Given the description of an element on the screen output the (x, y) to click on. 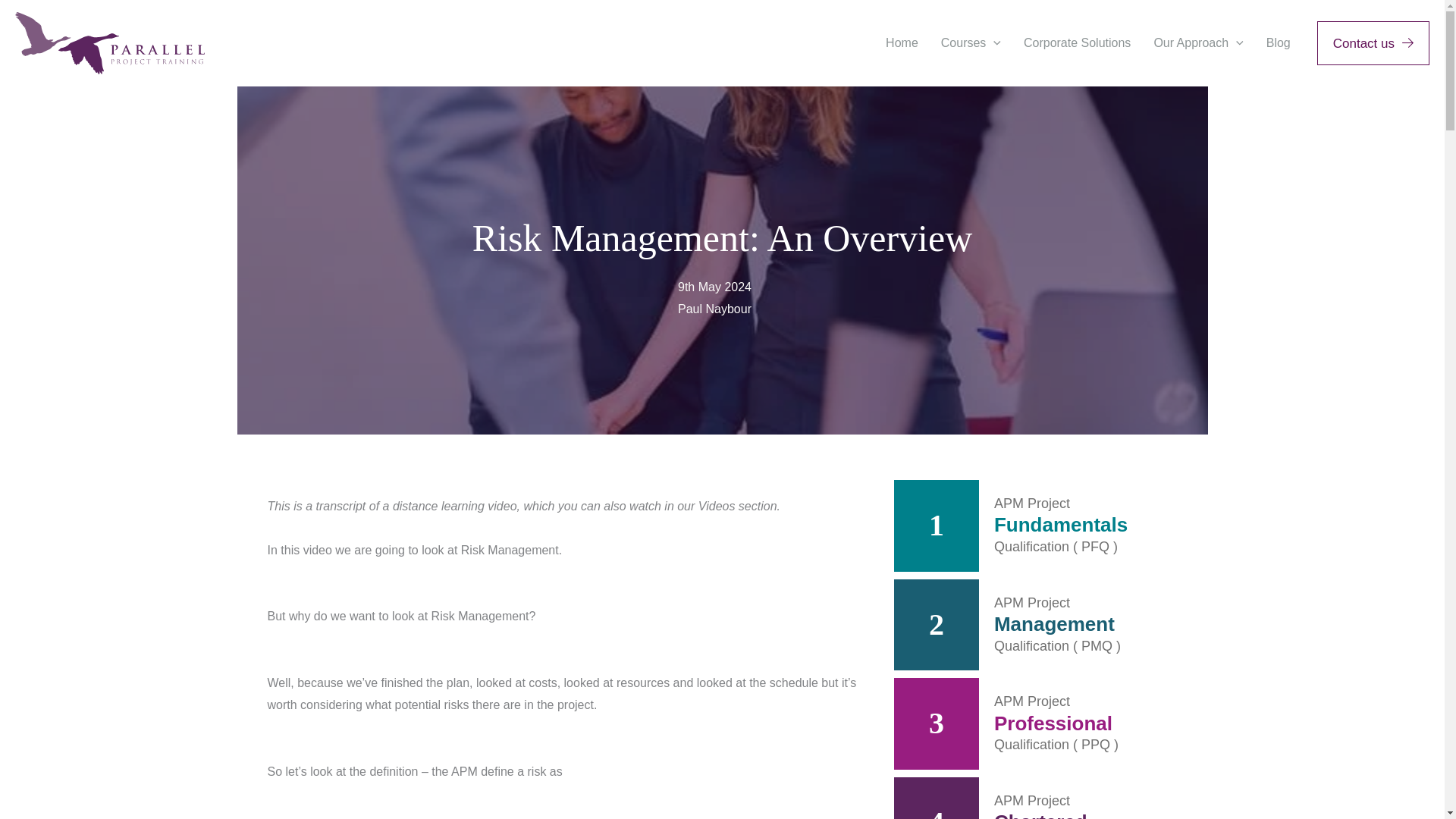
Corporate Solutions (1076, 42)
Courses (970, 42)
Our Approach (1197, 42)
Contact us (1373, 43)
